Given the description of an element on the screen output the (x, y) to click on. 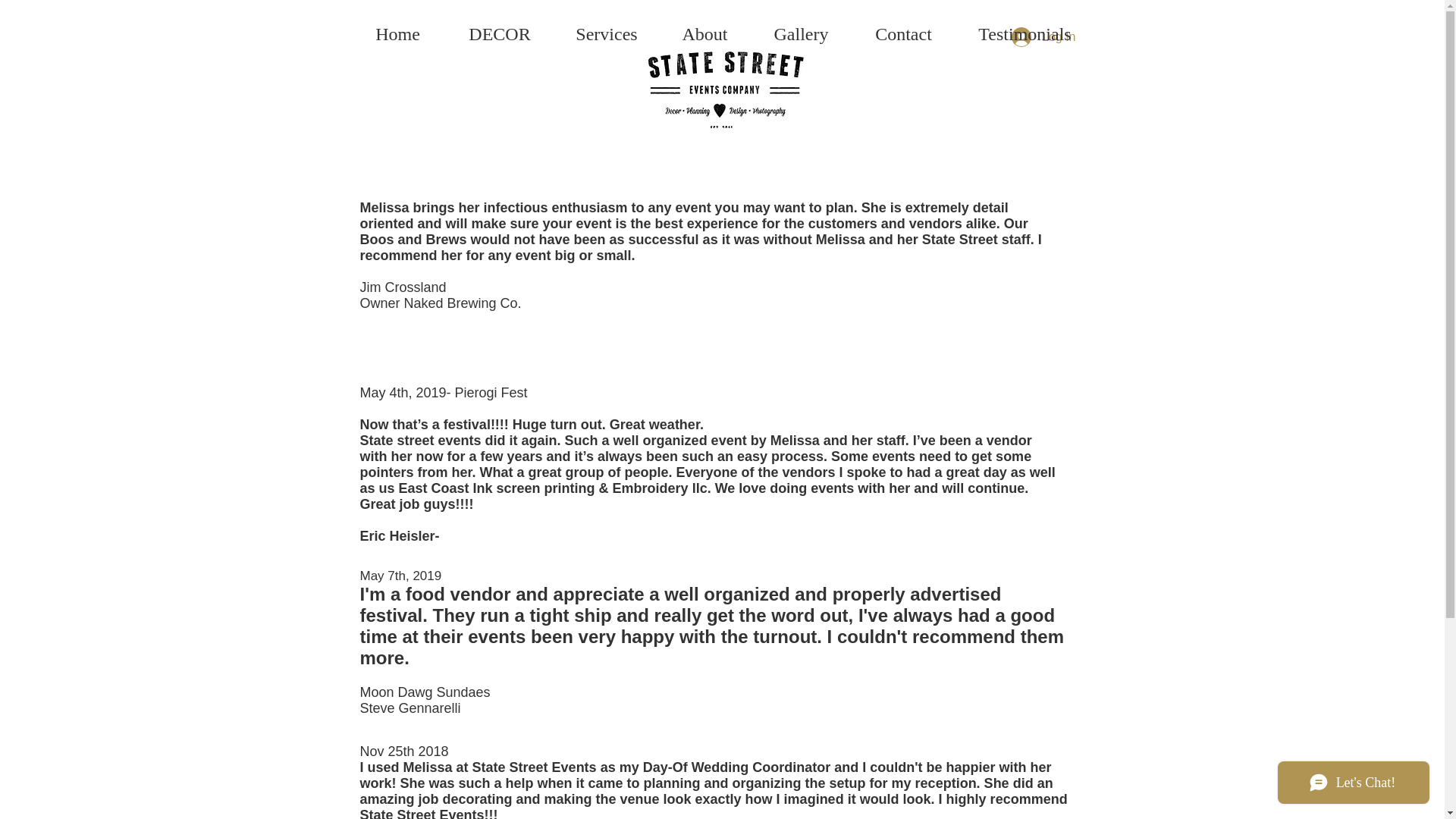
Gallery (801, 34)
DECOR (500, 34)
Testimonials (1024, 34)
Contact (903, 34)
Services (606, 34)
About (705, 34)
Home (398, 34)
Log In (1043, 36)
